Given the description of an element on the screen output the (x, y) to click on. 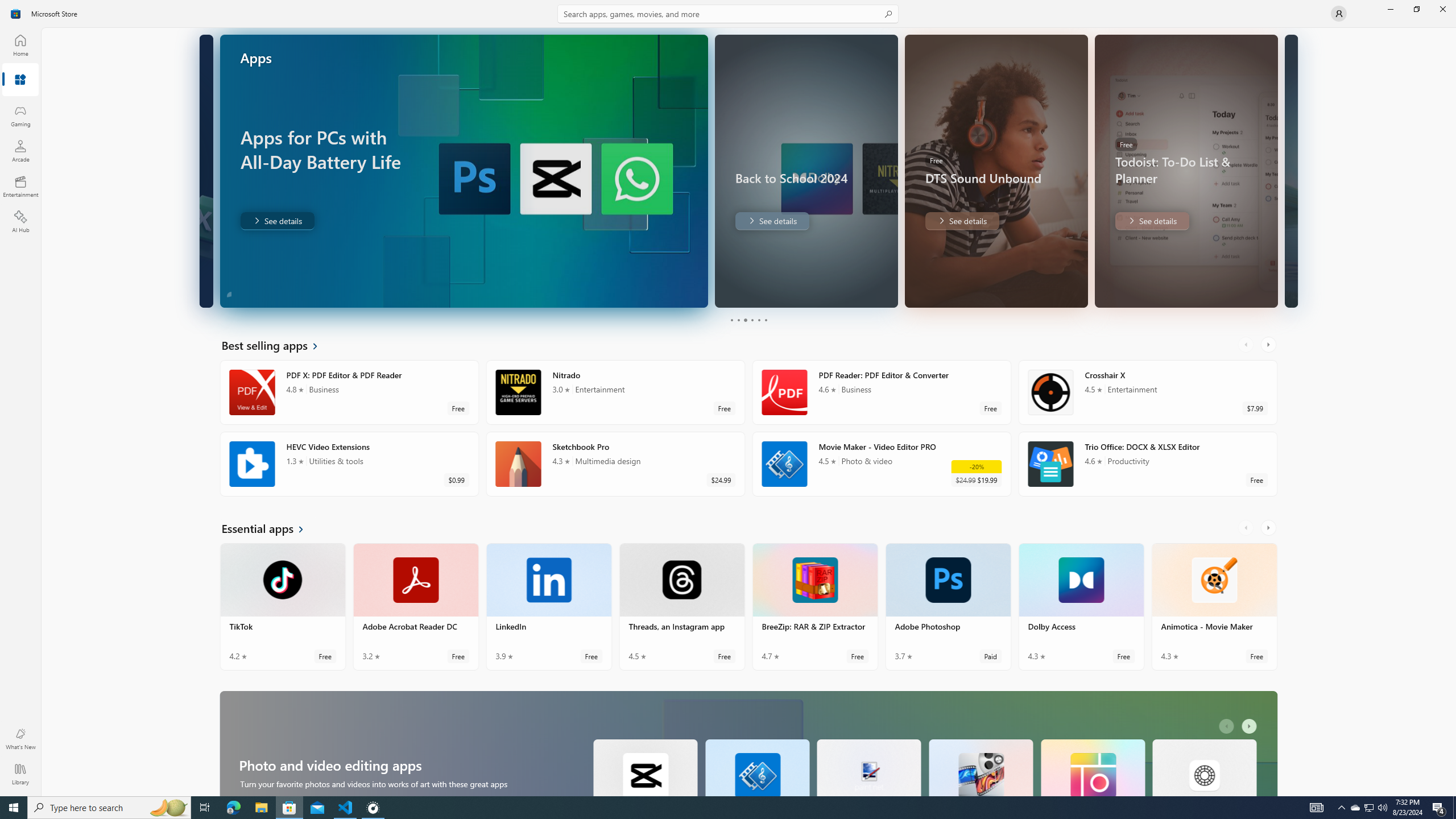
Pic Collage. Average rating of 4.8 out of five stars. Free   (1092, 767)
Page 4 (751, 319)
AutomationID: LeftScrollButton (1227, 726)
Gaming (20, 115)
Arcade (20, 150)
Page 6 (764, 319)
Restore Microsoft Store (1416, 9)
DTS Sound Unbound. Save 30% now. Free . See details (961, 221)
See all  Essential apps (269, 527)
Pager (748, 319)
